Given the description of an element on the screen output the (x, y) to click on. 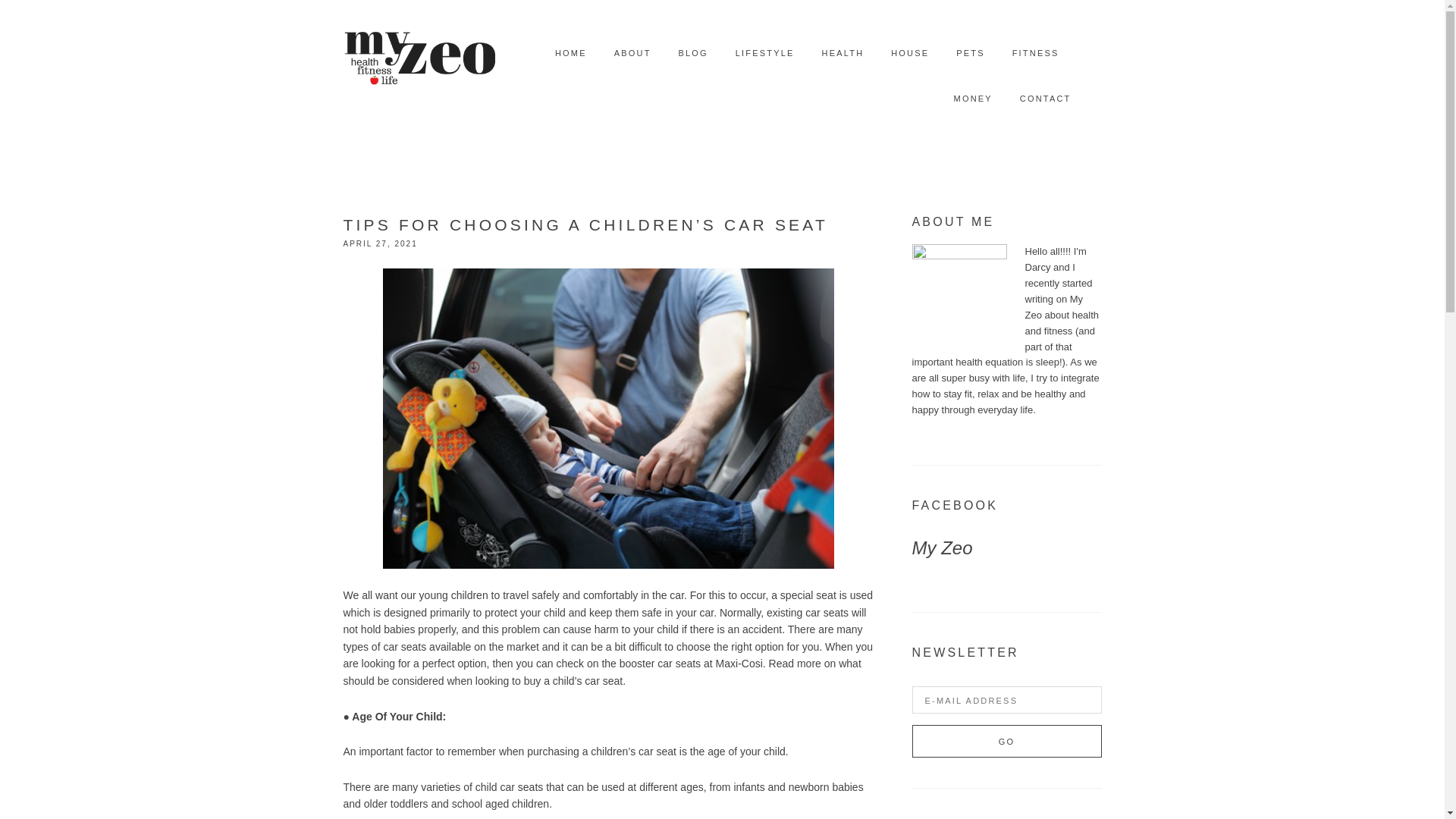
HEALTH (843, 53)
FITNESS (1035, 53)
MY ZEO (418, 53)
CONTACT (1045, 98)
booster car seats at Maxi-Cosi (691, 663)
LIFESTYLE (764, 53)
Go (1005, 740)
My Zeo (941, 547)
Go (1005, 740)
